Given the description of an element on the screen output the (x, y) to click on. 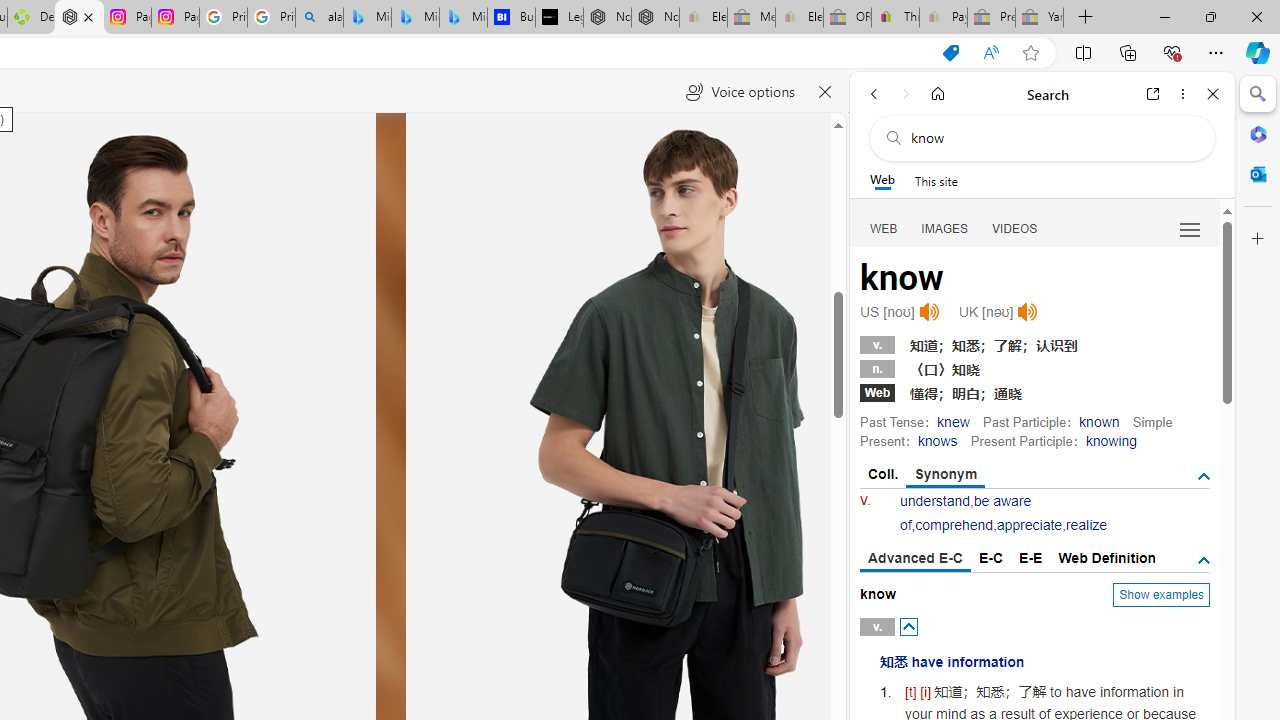
Home (938, 93)
Synonym (945, 475)
appreciate (1028, 524)
E-C (991, 557)
understand (935, 501)
More options (1182, 93)
Web scope (882, 180)
Microsoft Bing Travel - Shangri-La Hotel Bangkok (463, 17)
